Given the description of an element on the screen output the (x, y) to click on. 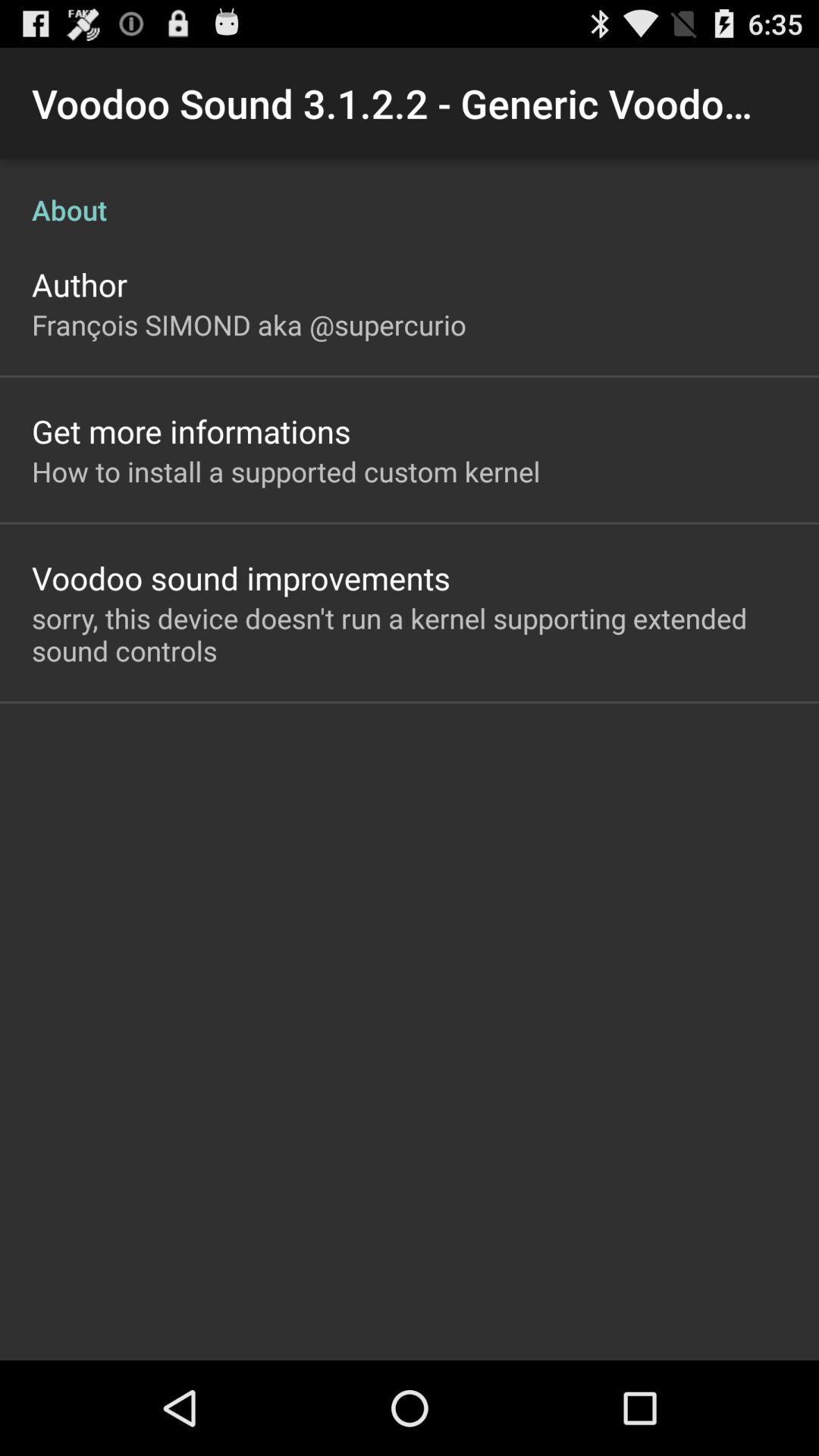
jump until how to install item (285, 471)
